Given the description of an element on the screen output the (x, y) to click on. 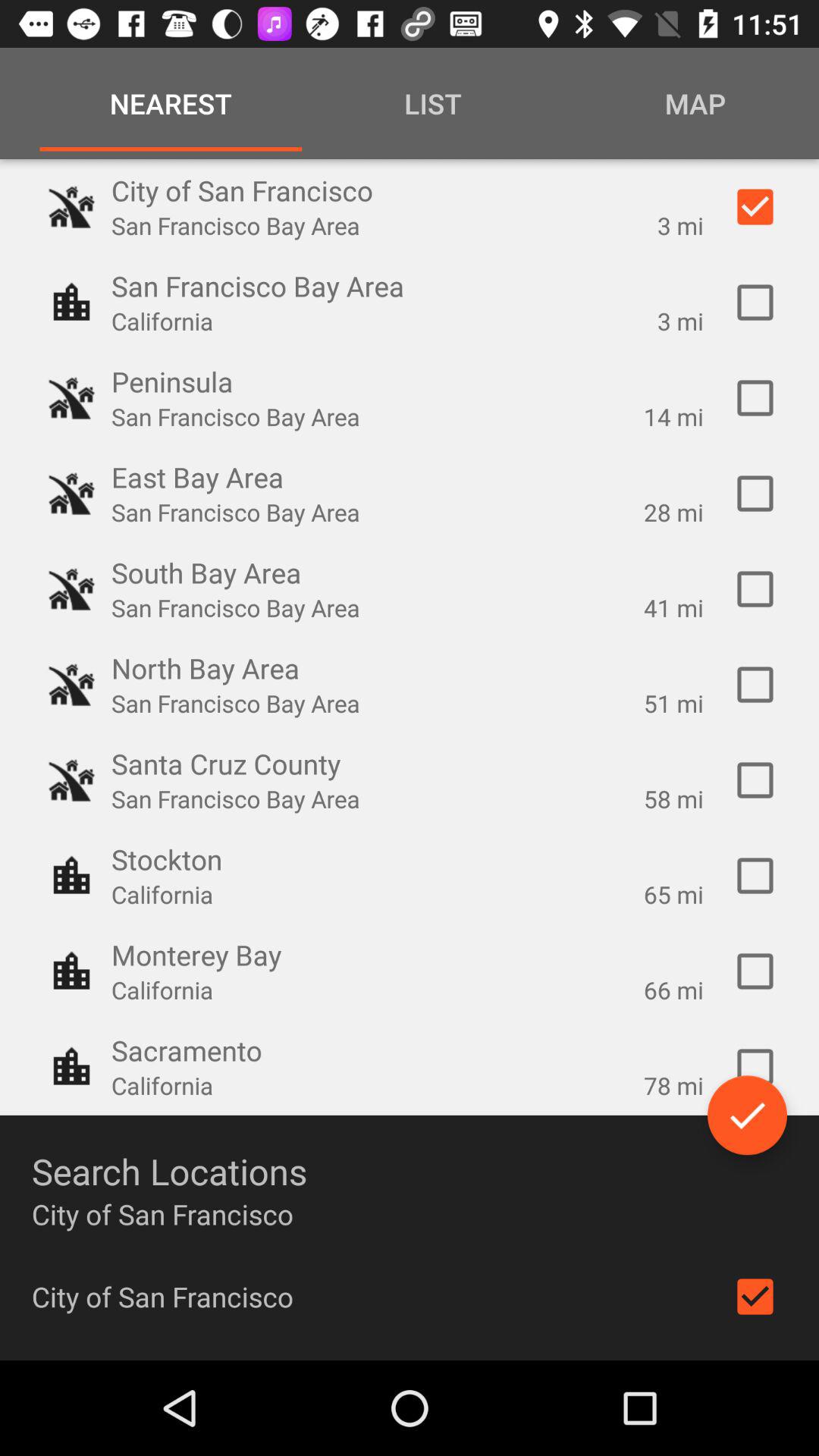
choose the icon below city of san (755, 1296)
